Given the description of an element on the screen output the (x, y) to click on. 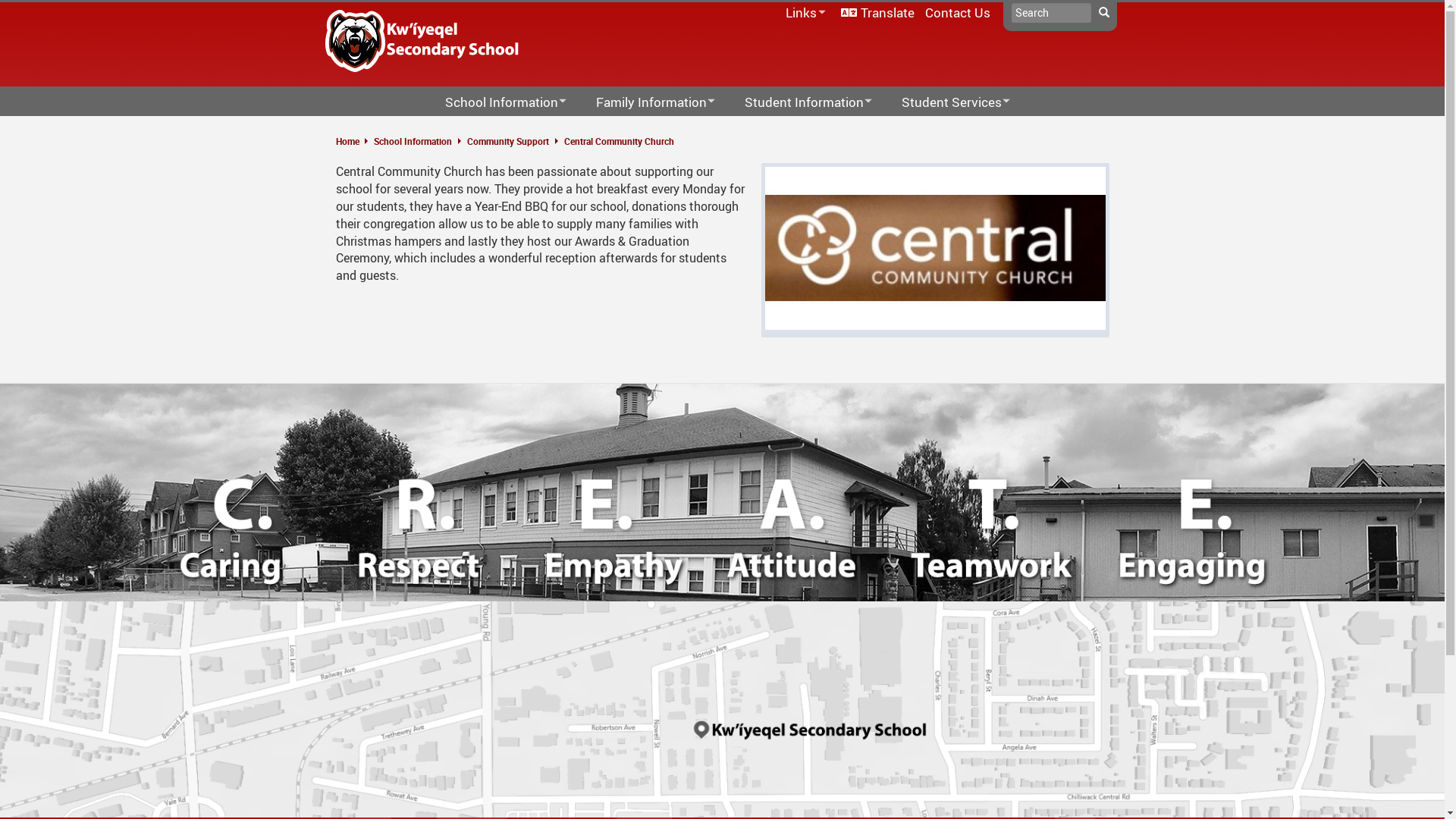
Translate Element type: text (877, 12)
Skip to main content Element type: text (0, 0)
About Us Element type: text (499, 130)
Search Element type: text (1103, 12)
Contact Us Element type: text (956, 12)
Central Community Church Element type: text (619, 141)
School Information Element type: text (412, 141)
Kodiak Connect Element type: text (667, 130)
Student Services Element type: text (979, 130)
Office 365 Element type: text (784, 32)
Financial Awards Element type: text (802, 130)
Home Element type: text (352, 140)
Community Support Element type: text (508, 141)
Office 365 Element type: text (1075, 130)
